Given the description of an element on the screen output the (x, y) to click on. 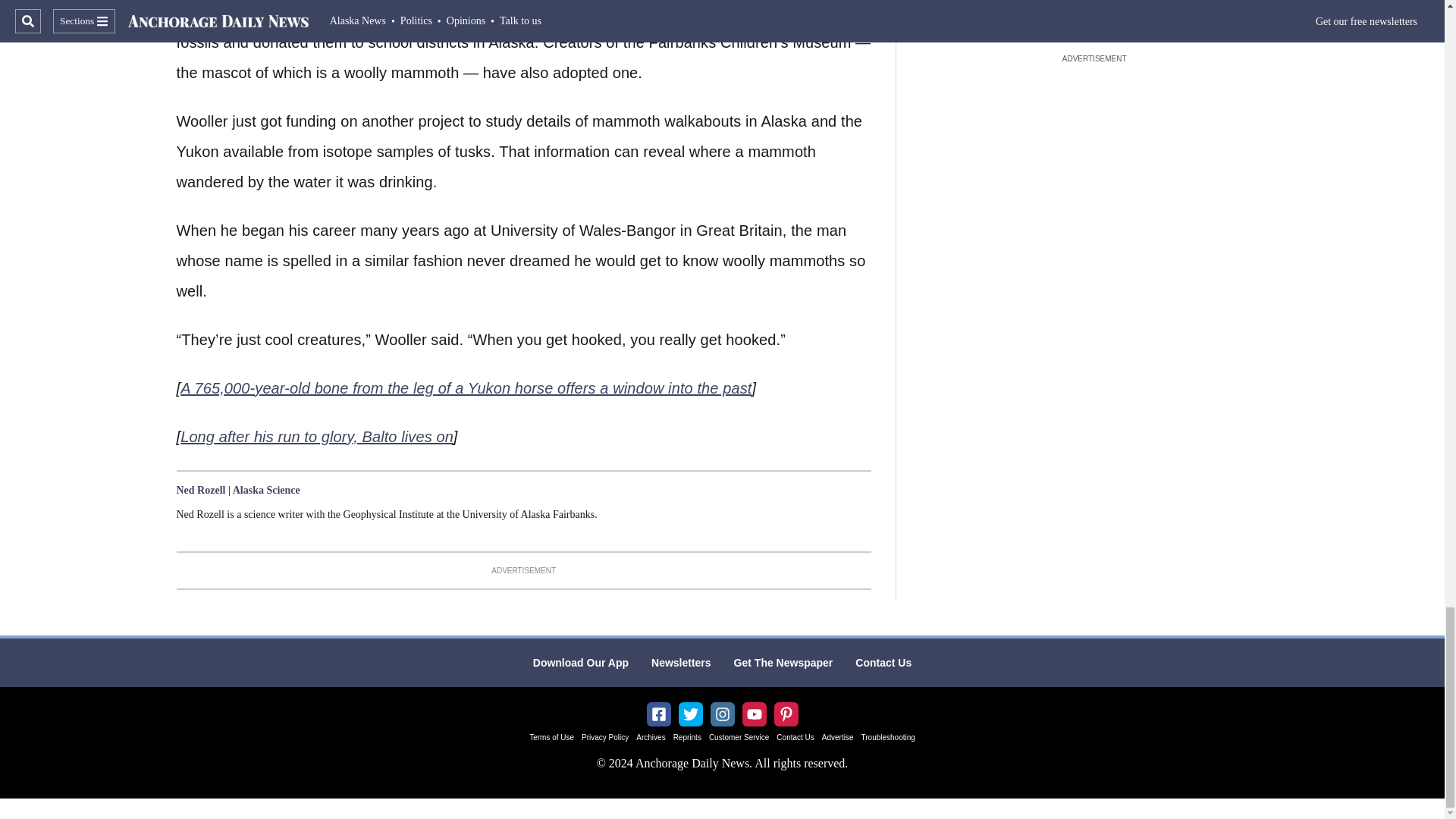
Facebook IconAnchorage Daily News Facebook Page (657, 713)
Twitter IconTwitter Account for Anchorage Daily News (689, 713)
YouTube iconAnchorage Daily News YouTube channel (753, 713)
PinterestAnchorage Daily News Pinterest Account (785, 713)
Instagram IconAnchorage Daily News instagram account (721, 713)
